Given the description of an element on the screen output the (x, y) to click on. 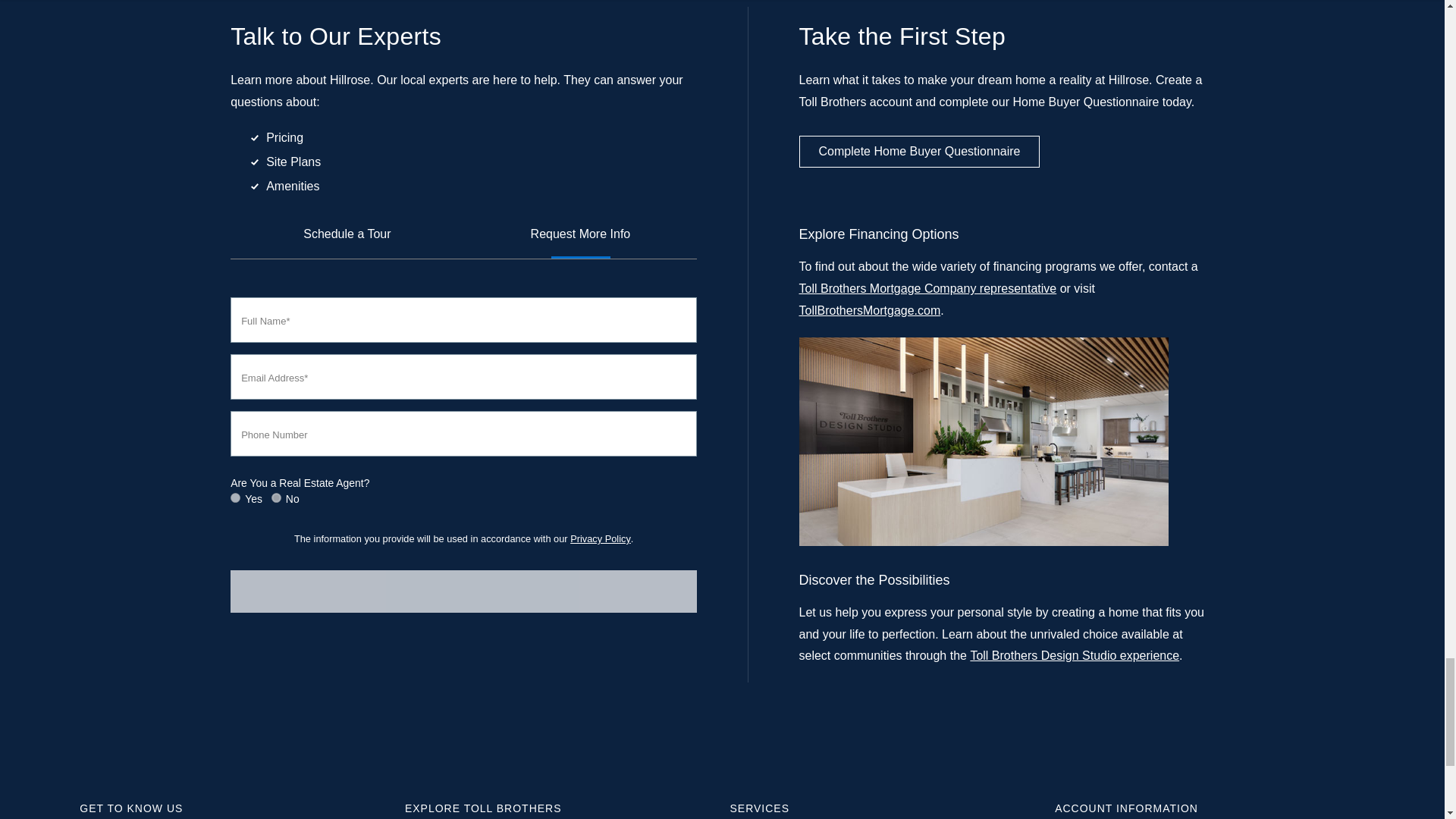
Toll Brothers Design Studio (1074, 655)
yes (235, 497)
Please enter a valid phone number (463, 433)
Toll Brothers Mortgage Company (928, 287)
Toll Brothers Mortgage Company (869, 309)
no (275, 497)
Enter Your First and Last Names (463, 320)
